Given the description of an element on the screen output the (x, y) to click on. 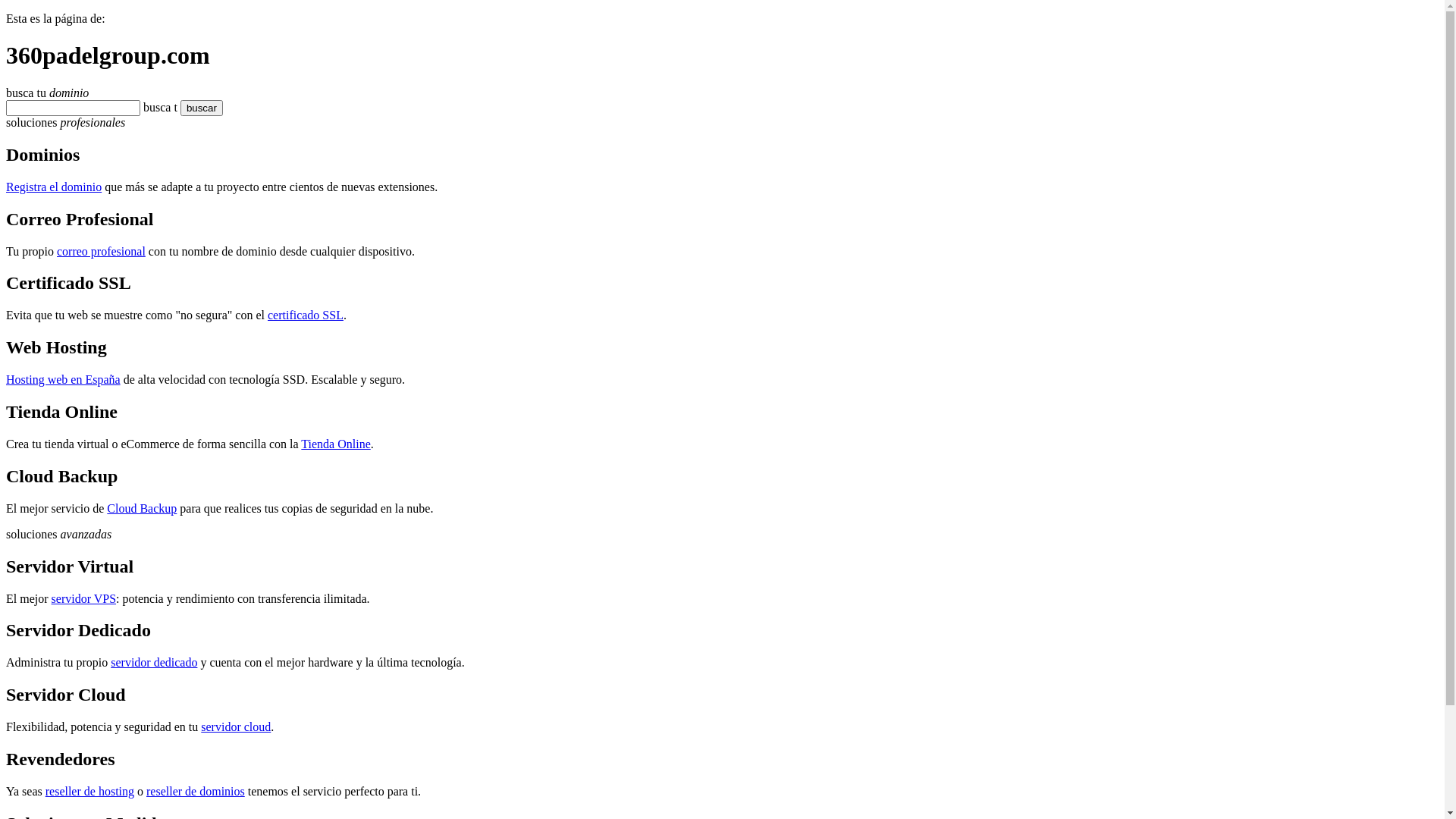
servidor cloud Element type: text (235, 726)
Cloud Backup Element type: text (141, 508)
correo profesional Element type: text (100, 250)
certificado SSL Element type: text (305, 314)
reseller de dominios Element type: text (195, 790)
buscar Element type: text (179, 108)
servidor dedicado Element type: text (153, 661)
reseller de hosting Element type: text (89, 790)
Tienda Online Element type: text (335, 443)
servidor VPS Element type: text (83, 598)
Registra el dominio Element type: text (53, 186)
